Given the description of an element on the screen output the (x, y) to click on. 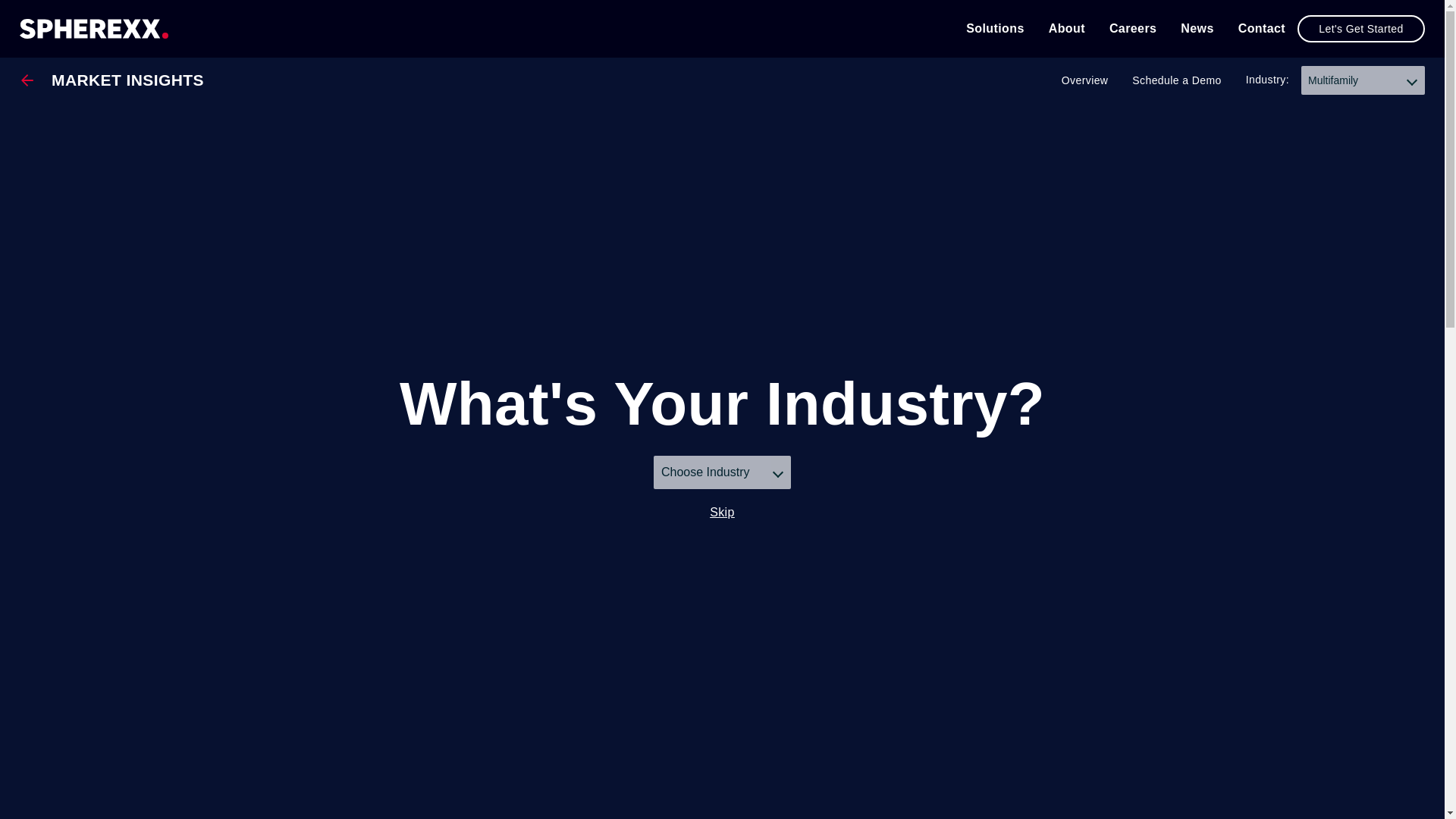
Let's Get Started (1361, 28)
Solutions (994, 28)
Skip to Footer (49, 53)
Careers (1132, 28)
About (1066, 28)
Enable Accessibility Mode (49, 52)
Skip to Main Content (49, 52)
Contact (1262, 28)
News (1196, 28)
